Given the description of an element on the screen output the (x, y) to click on. 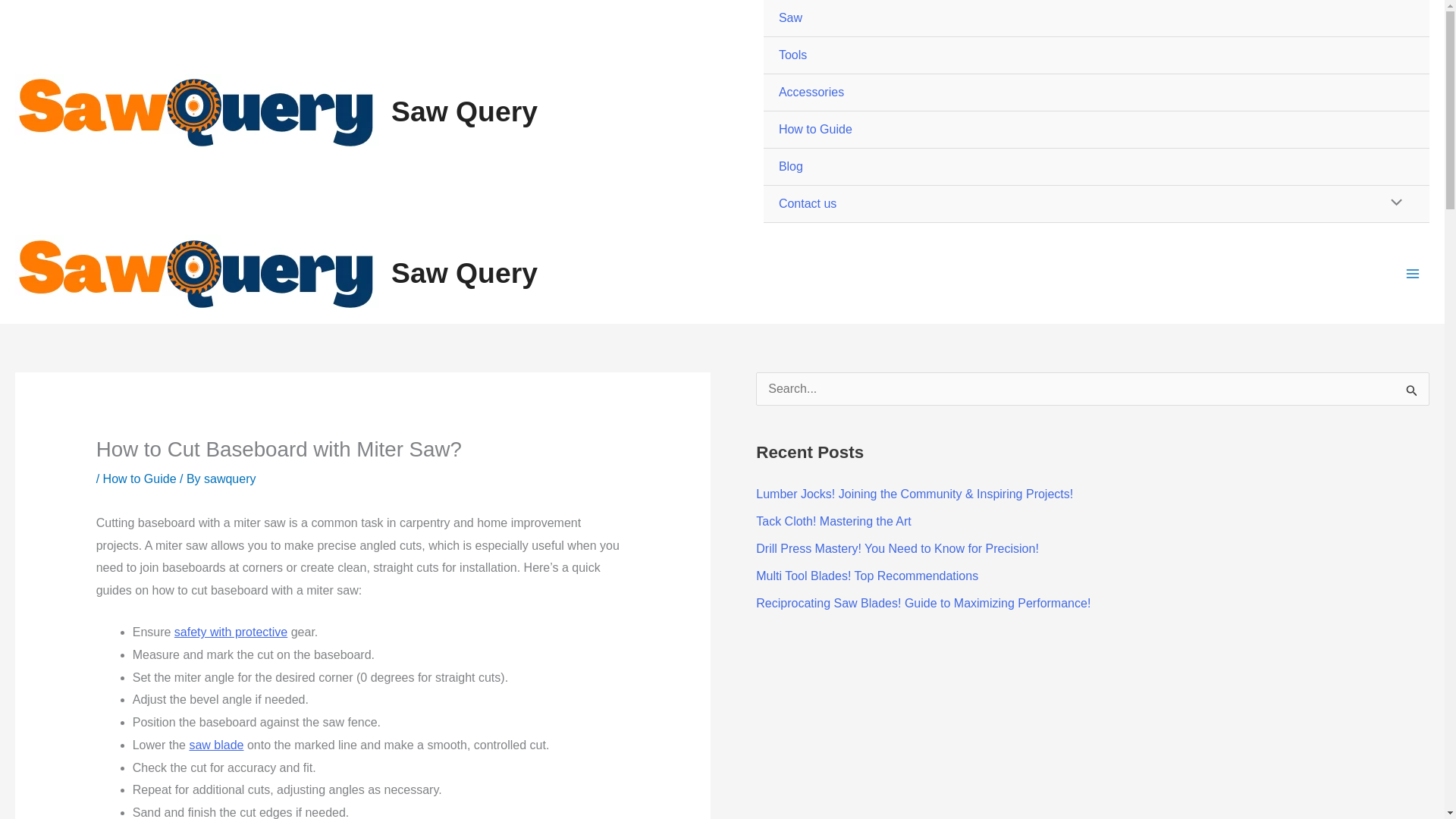
saw blade (216, 744)
Menu Toggle (1392, 203)
Saw Query (464, 111)
Main Menu (1412, 272)
Saw (1095, 18)
Drill Press Mastery! You Need to Know for Precision! (897, 548)
Accessories (1095, 92)
Contact us (1095, 203)
Tack Cloth! Mastering the Art (833, 521)
Blog (1095, 166)
